Given the description of an element on the screen output the (x, y) to click on. 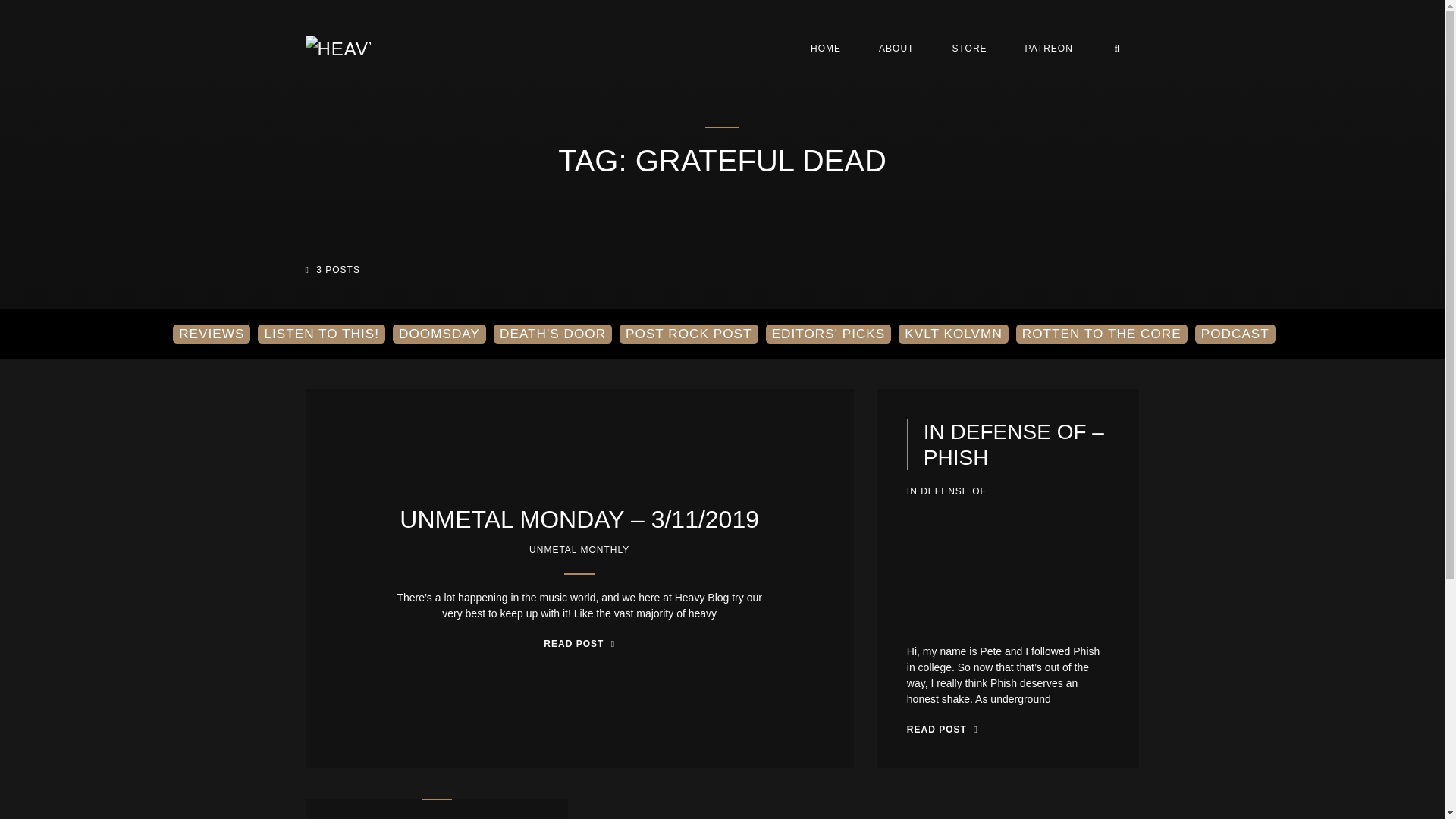
READ POST (578, 643)
EDITORS' PICKS (828, 333)
ABOUT (896, 48)
HOME (826, 48)
DOOMSDAY (439, 333)
READ POST (942, 729)
LISTEN TO THIS! (321, 333)
DEATH'S DOOR (552, 333)
UNMETAL MONTHLY (578, 549)
POST ROCK POST (689, 333)
PODCAST (1235, 333)
ROTTEN TO THE CORE (1102, 333)
REVIEWS (211, 333)
KVLT KOLVMN (952, 333)
STORE (969, 48)
